Given the description of an element on the screen output the (x, y) to click on. 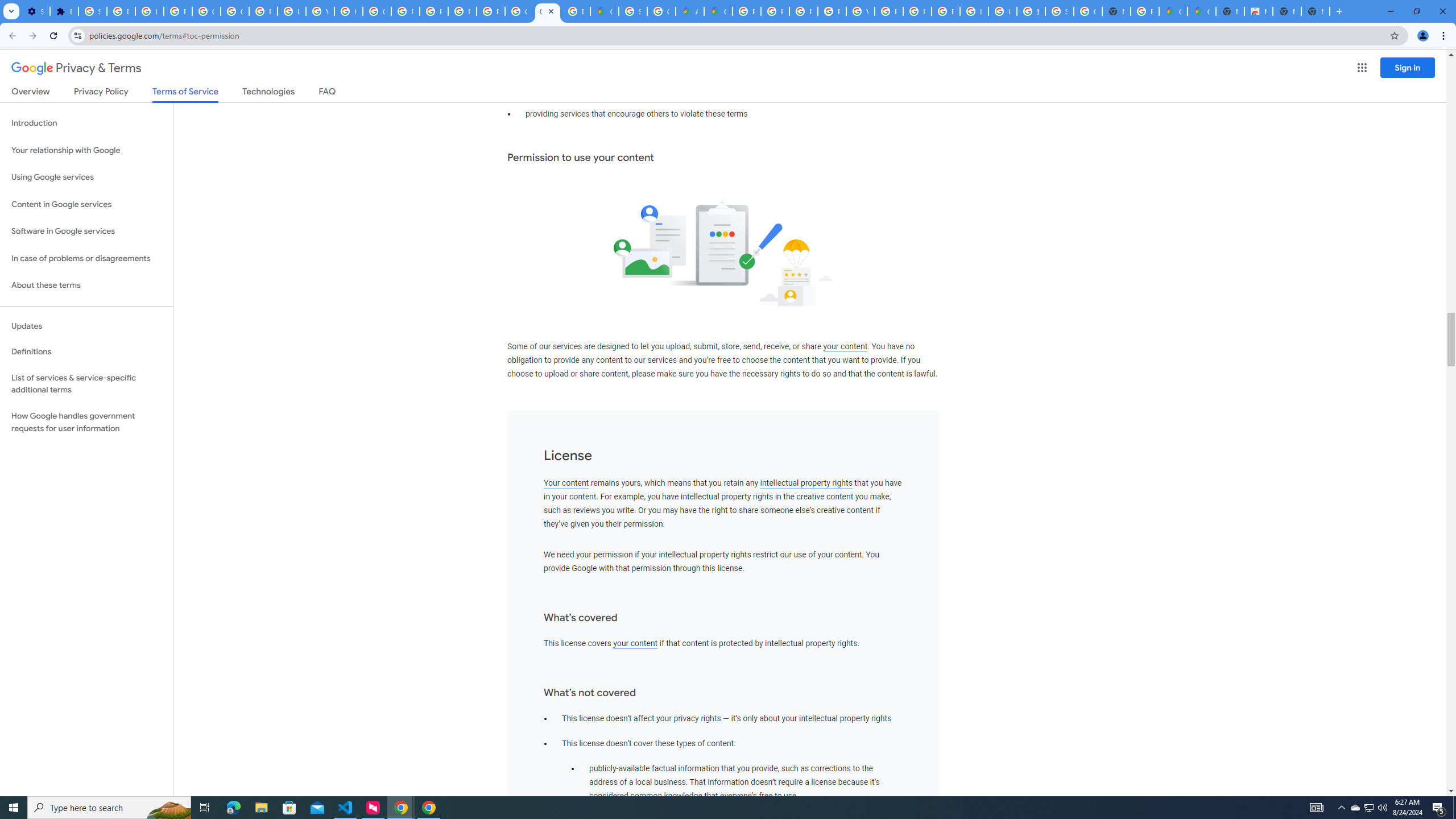
YouTube (320, 11)
Sign in - Google Accounts (1058, 11)
Bookmark this tab (1393, 35)
Google Maps (1173, 11)
Google Account Help (206, 11)
Google Maps (718, 11)
About these terms (86, 284)
Technologies (268, 93)
Content in Google services (86, 204)
Browse Chrome as a guest - Computer - Google Chrome Help (945, 11)
